Given the description of an element on the screen output the (x, y) to click on. 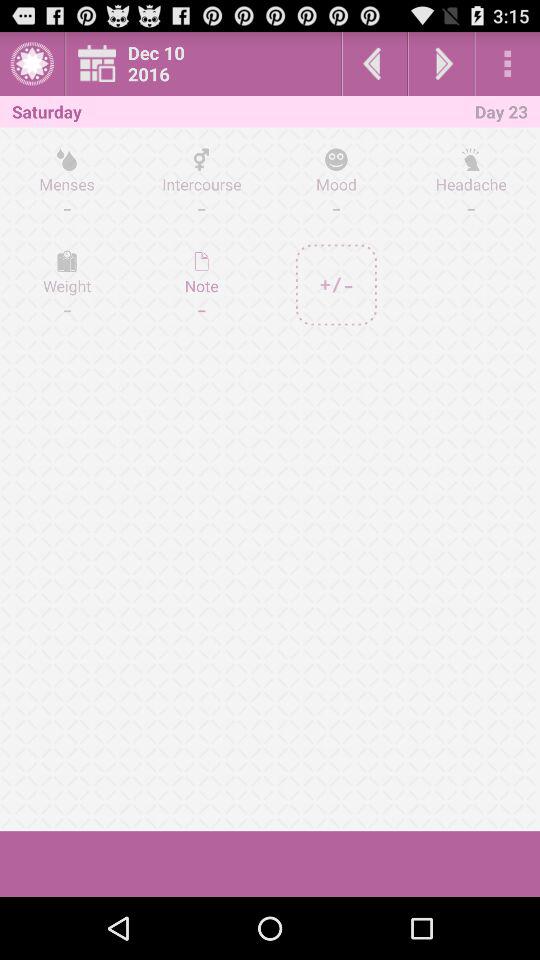
tap the icon to the right of intercourse
_ item (336, 183)
